Given the description of an element on the screen output the (x, y) to click on. 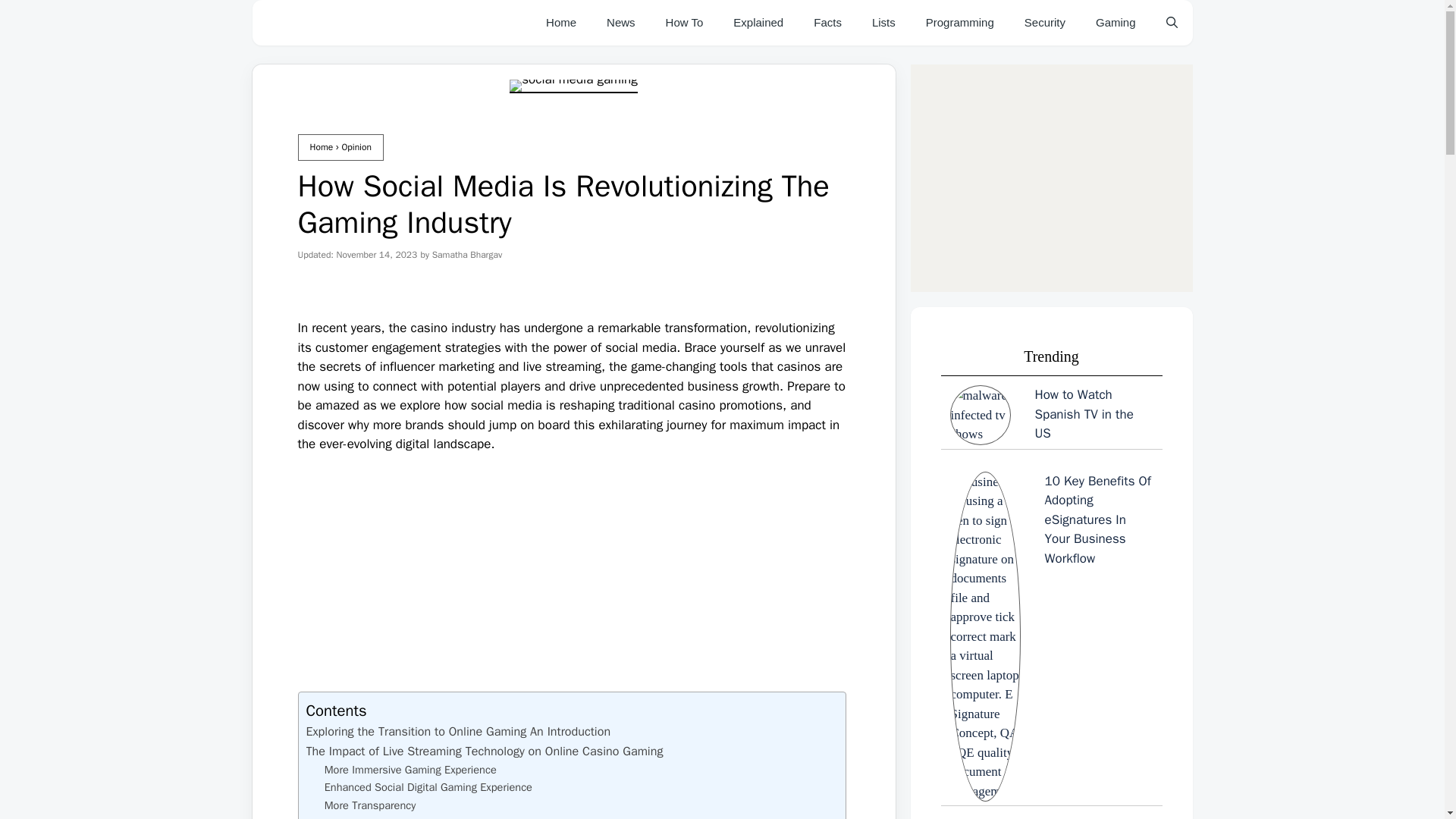
Enhanced Social Digital Gaming Experience (428, 787)
More Transparency (370, 805)
Lists (884, 22)
Facts (827, 22)
News (620, 22)
Explained (757, 22)
More Transparency (370, 805)
Gaming (1115, 22)
